Given the description of an element on the screen output the (x, y) to click on. 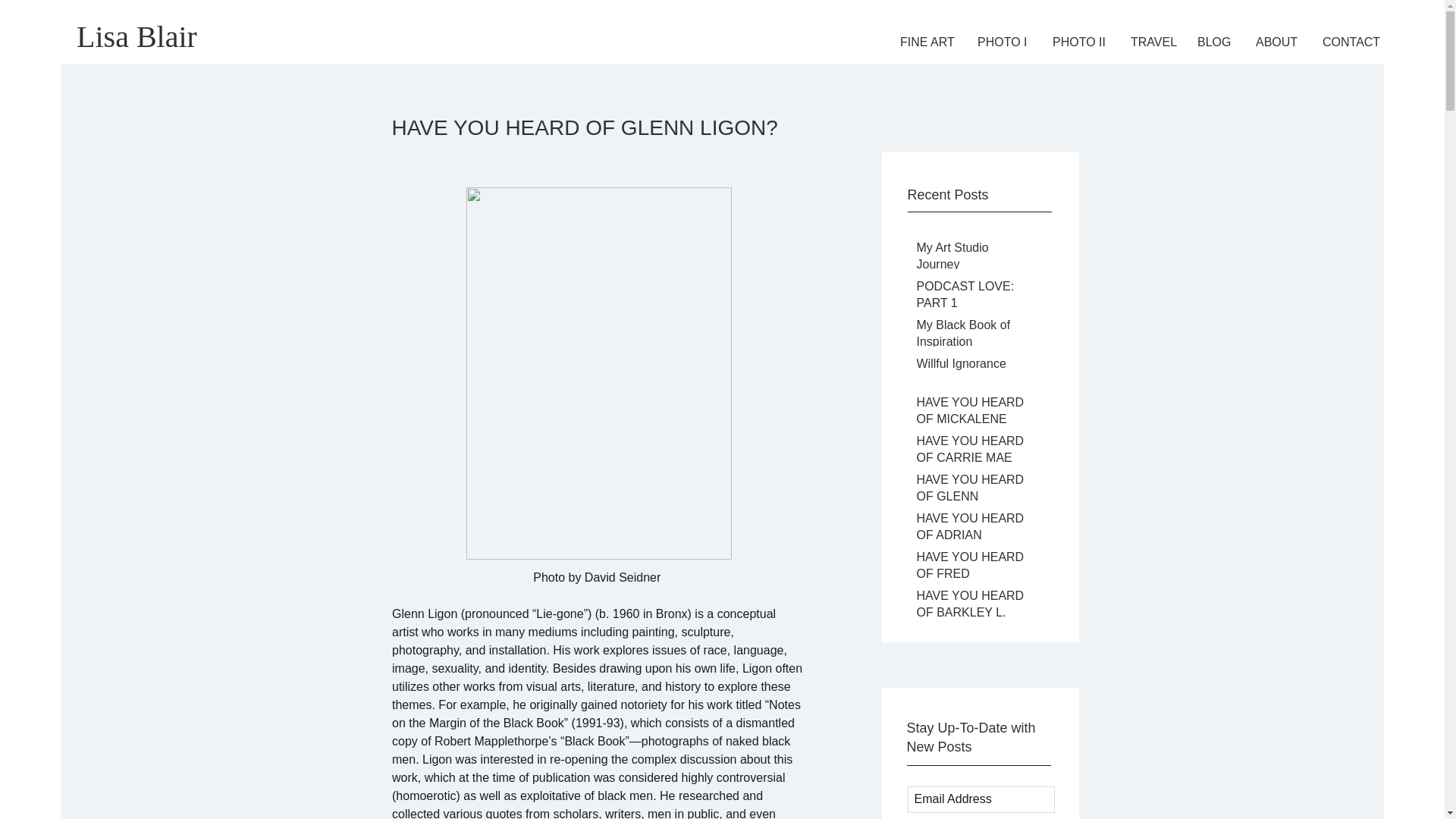
PHOTO II (1080, 42)
Lisa Blair (136, 36)
TRAVEL (1152, 42)
ABOUT (1277, 42)
PHOTO I (1003, 42)
CONTACT (1352, 42)
BLOG (1215, 42)
FINE ART (927, 42)
